Given the description of an element on the screen output the (x, y) to click on. 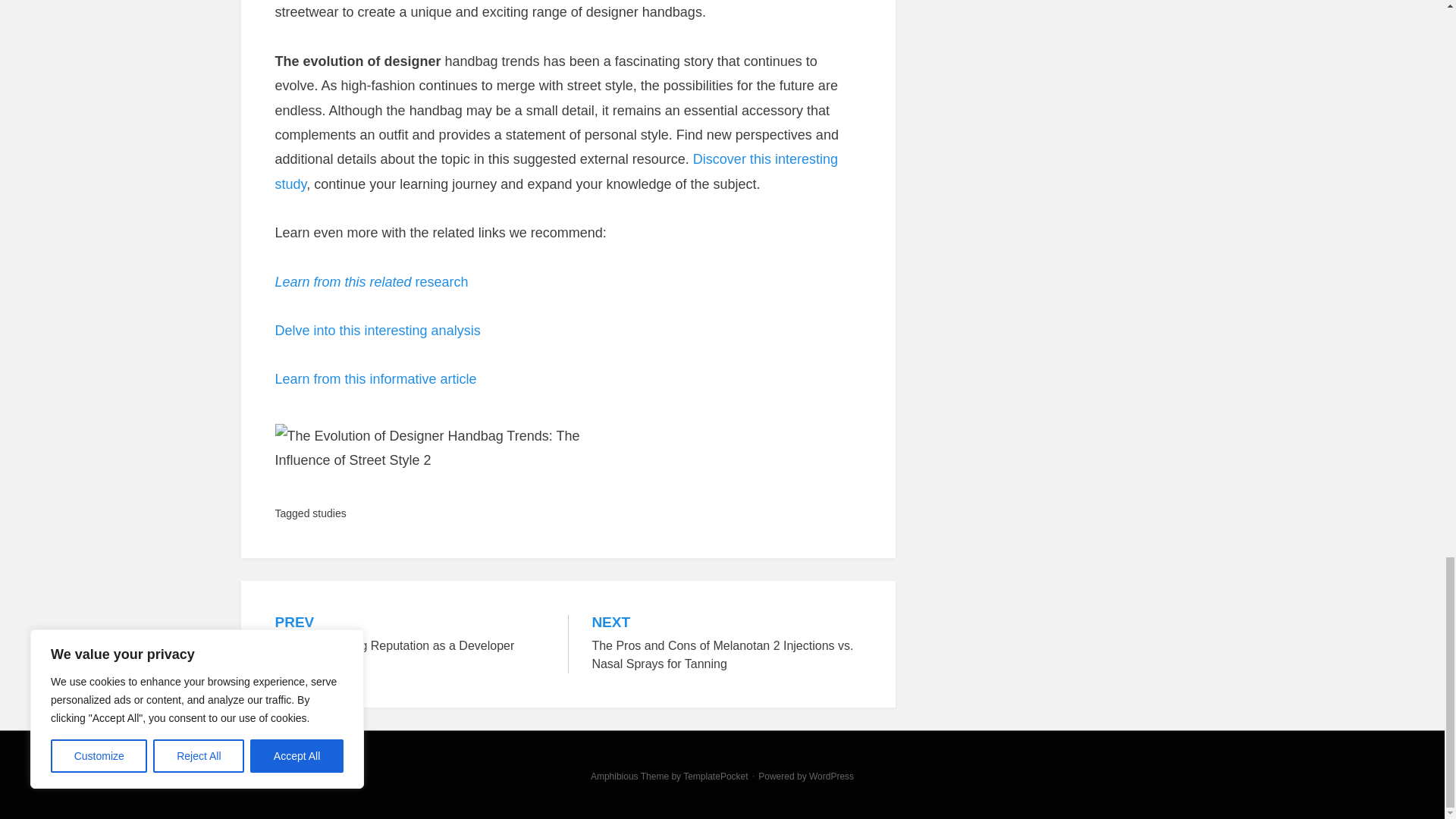
Delve into this interesting analysis (377, 330)
studies (329, 512)
WordPress (409, 635)
TemplatePocket (831, 776)
Discover this interesting study (715, 776)
Learn from this related research (556, 170)
Learn from this informative article (371, 281)
